Given the description of an element on the screen output the (x, y) to click on. 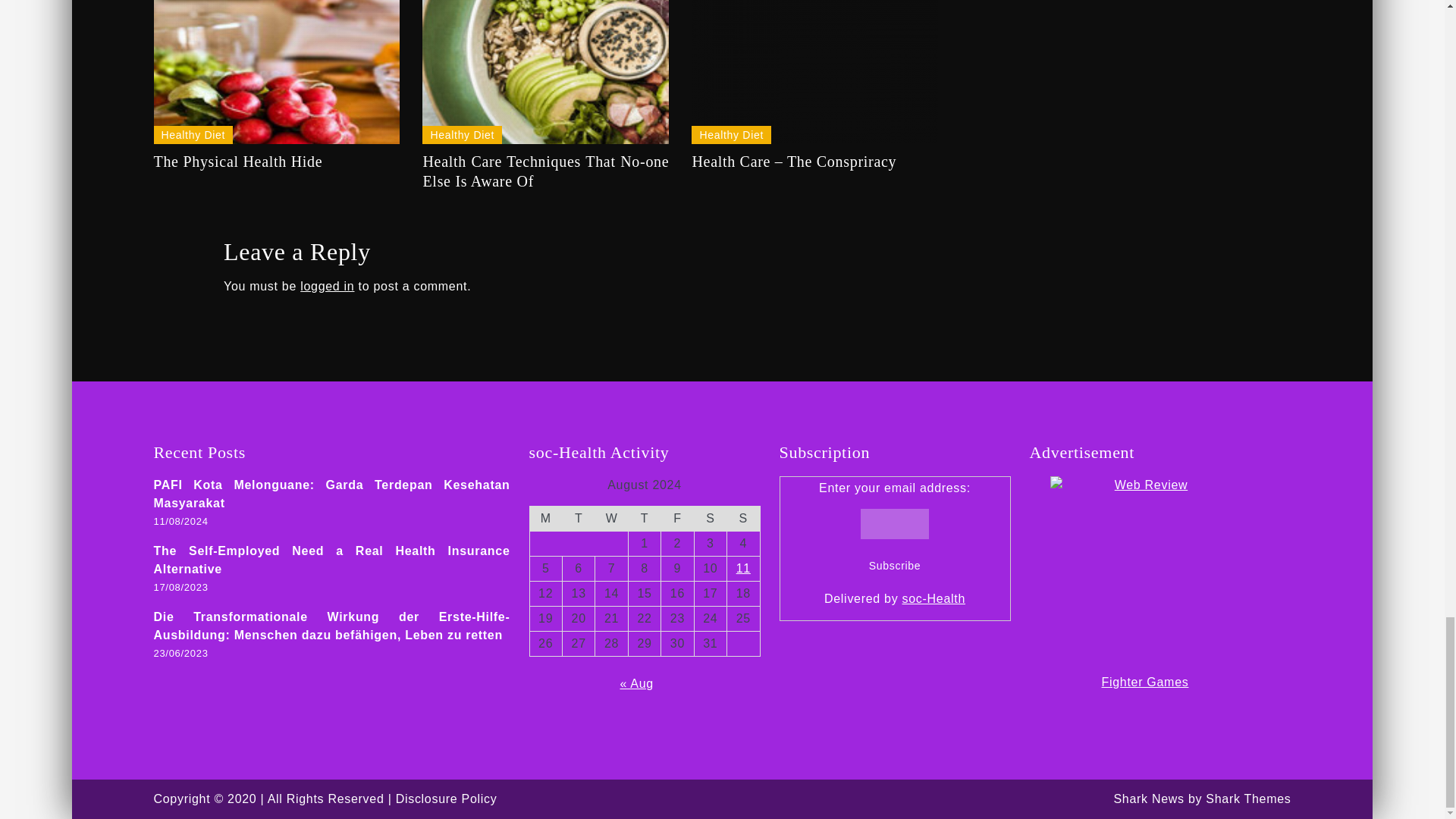
Wednesday (611, 518)
Tuesday (578, 518)
Health Care - The Conspriracy (814, 72)
The Physical Health Hide (275, 72)
Monday (545, 518)
Health Care Techniques That No-one Else Is Aware Of (545, 72)
Subscribe (895, 565)
